Given the description of an element on the screen output the (x, y) to click on. 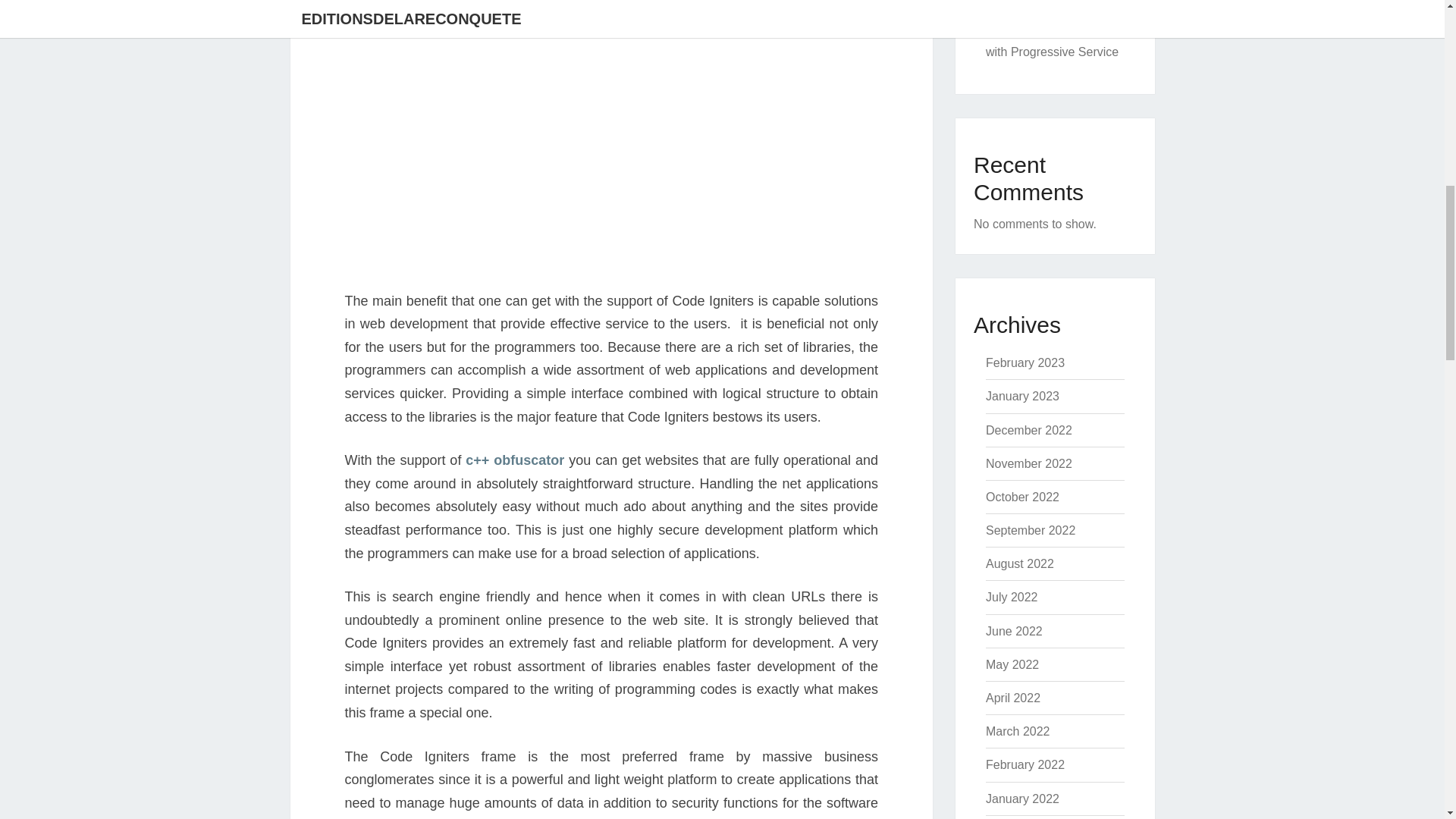
February 2023 (1024, 362)
June 2022 (1013, 631)
January 2023 (1022, 395)
July 2022 (1011, 596)
May 2022 (1012, 664)
April 2022 (1013, 697)
October 2022 (1022, 496)
March 2022 (1017, 730)
November 2022 (1028, 463)
September 2022 (1030, 530)
December 2022 (1028, 430)
January 2022 (1022, 798)
August 2022 (1019, 563)
February 2022 (1024, 764)
